Given the description of an element on the screen output the (x, y) to click on. 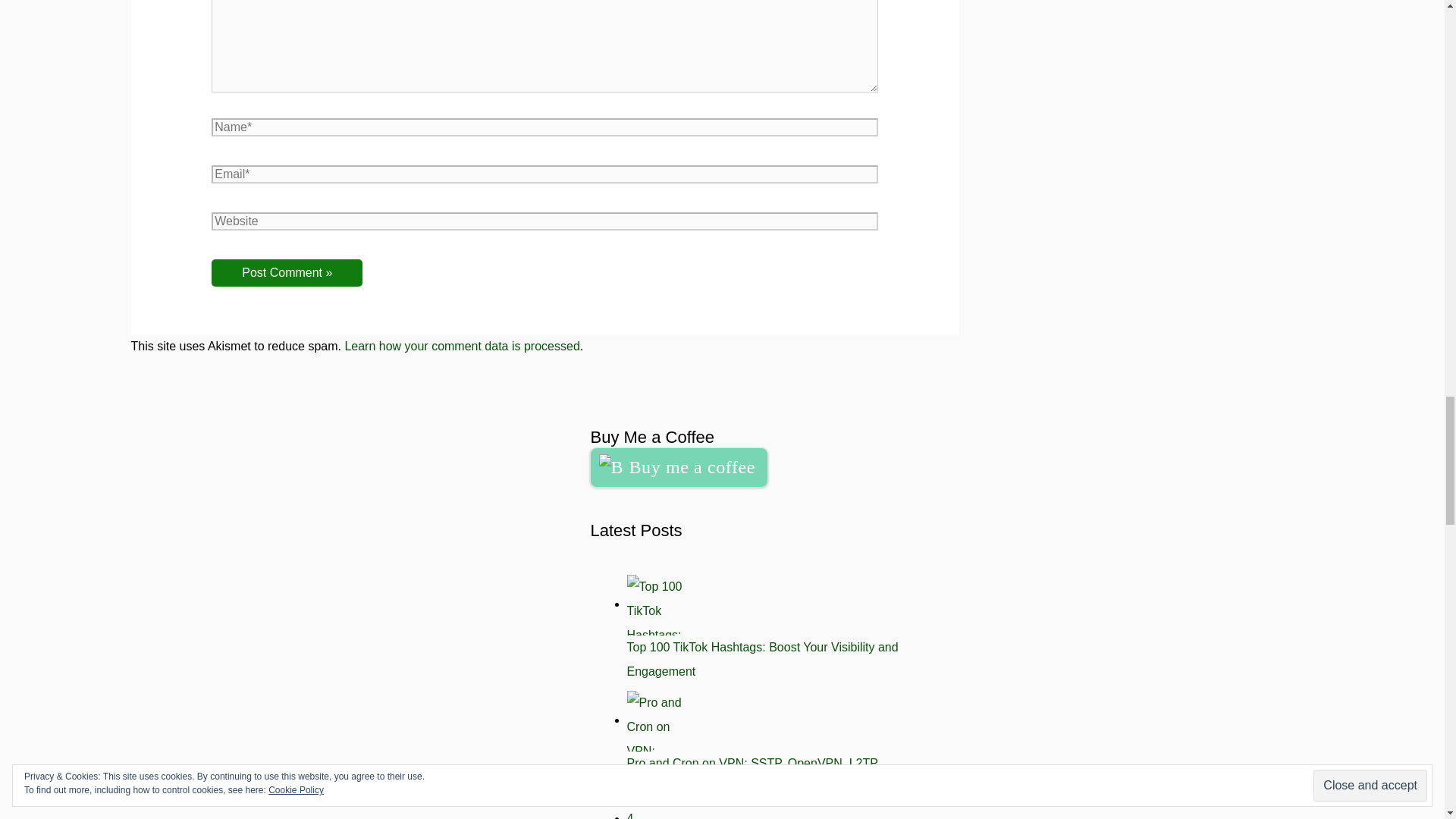
Buy me a coffee (678, 466)
Pro and Cron on VPN: SSTP, OpenVPN, L2TP and PPTP (751, 774)
4 (629, 815)
Pro and Cron on VPN: SSTP, OpenVPN, L2TP and PPTP 2 (656, 721)
Learn how your comment data is processed (461, 345)
